Given the description of an element on the screen output the (x, y) to click on. 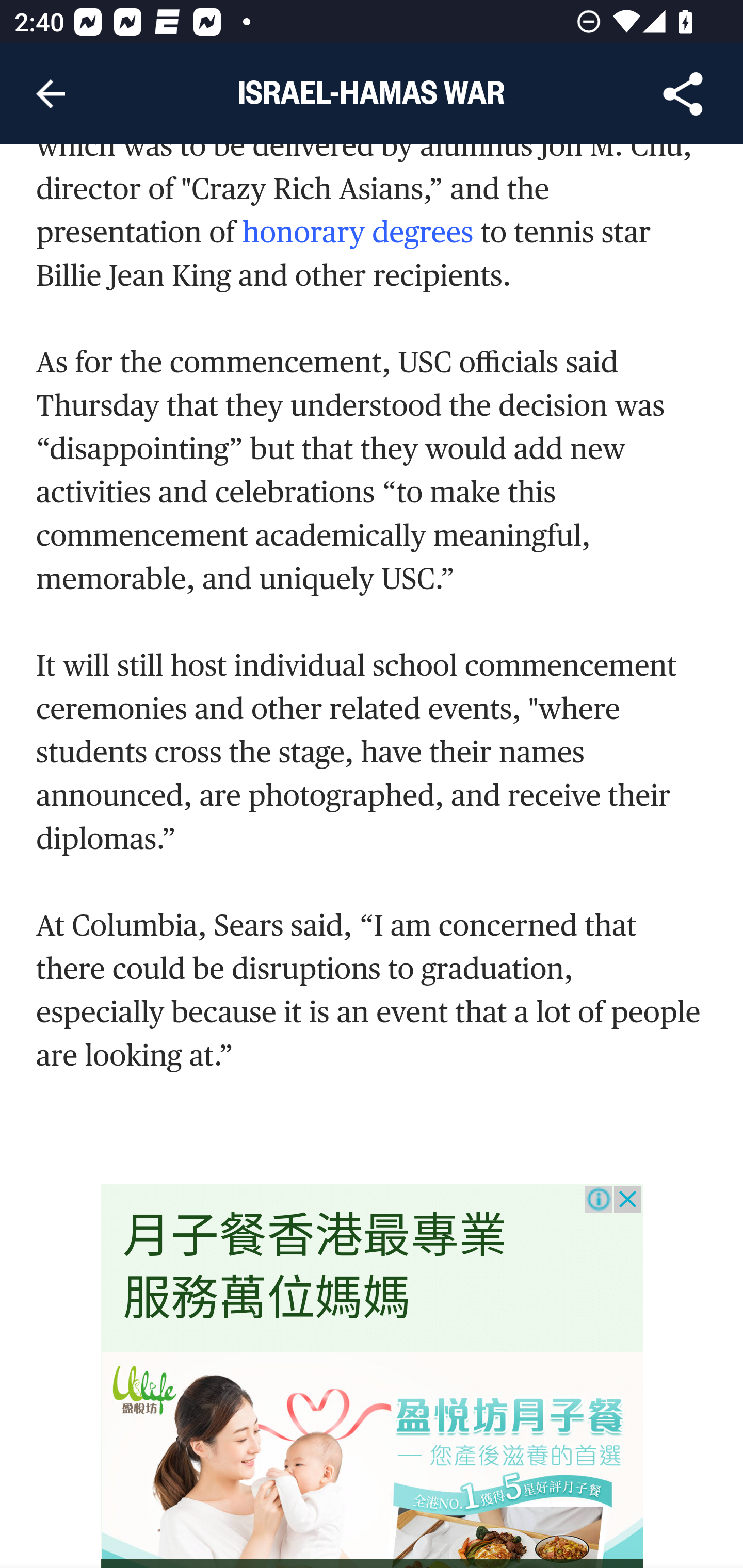
Navigate up (50, 93)
Share Article, button (683, 94)
honorary degrees (358, 232)
月子餐香港最專業 服務萬位媽媽 月子餐香港最專業 服務萬位媽媽 (314, 1267)
